Given the description of an element on the screen output the (x, y) to click on. 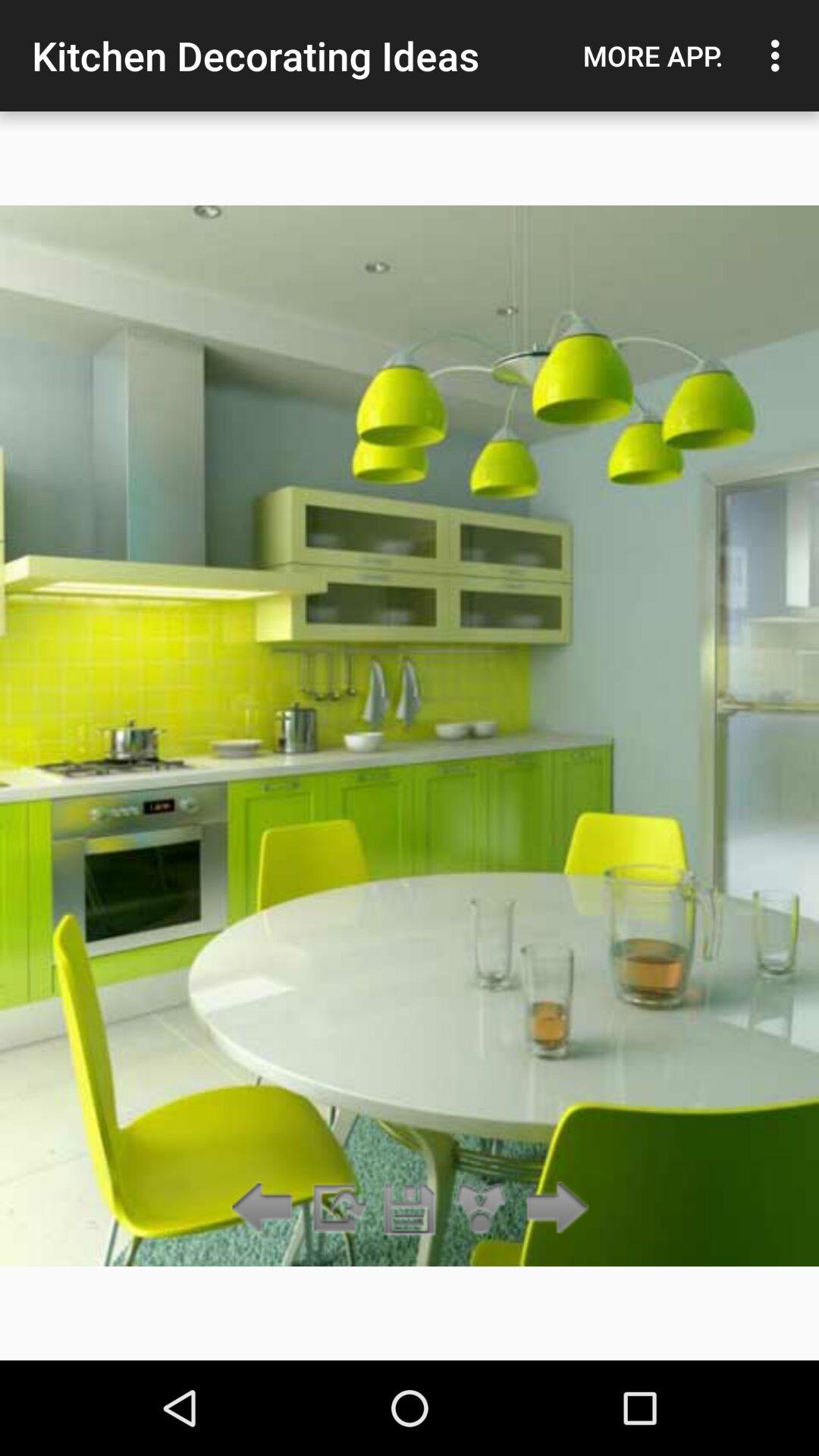
turn on icon at the bottom right corner (552, 1209)
